Given the description of an element on the screen output the (x, y) to click on. 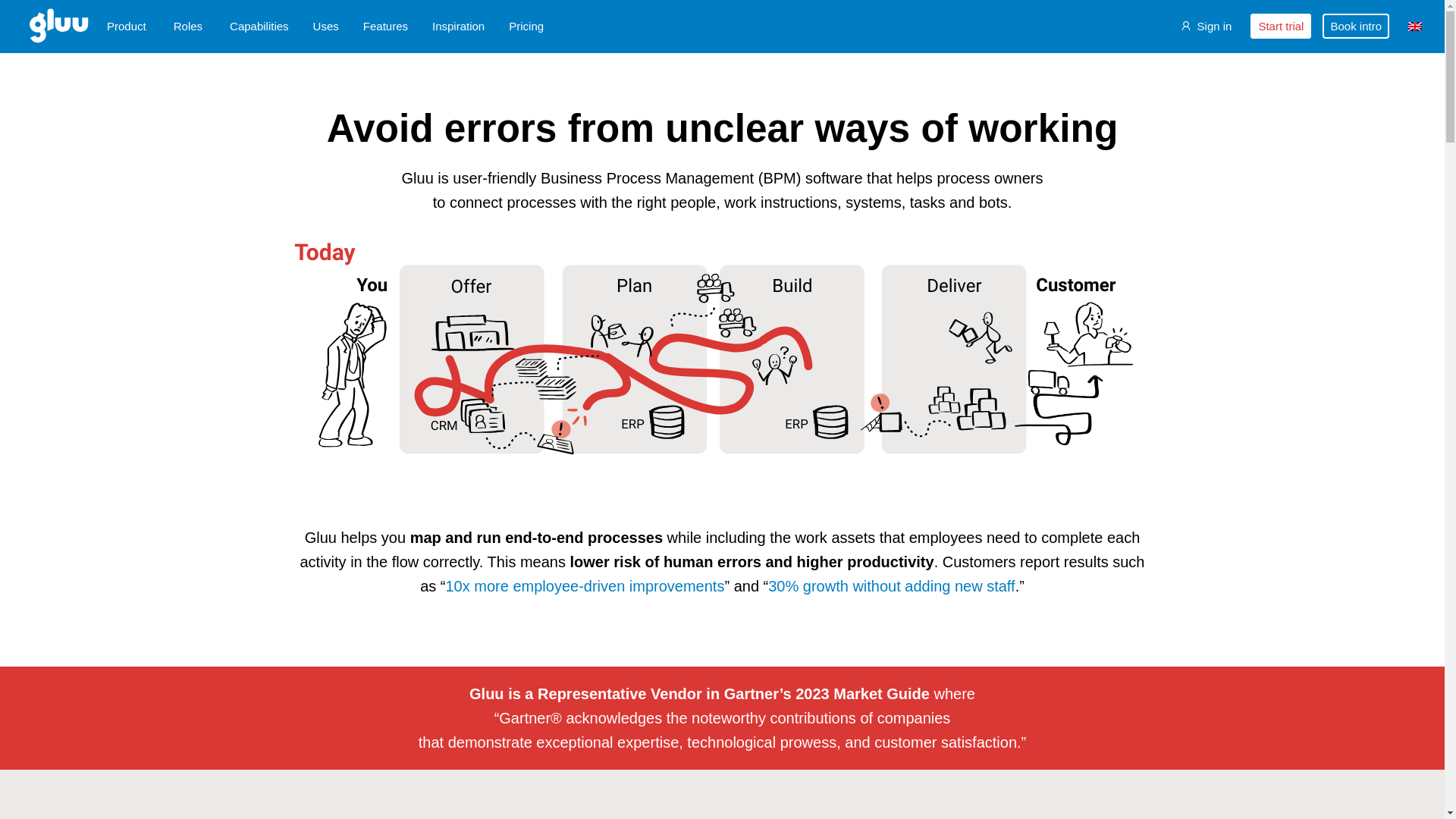
Roles (187, 25)
Uses (325, 25)
Product (126, 25)
Capabilities (259, 25)
